Given the description of an element on the screen output the (x, y) to click on. 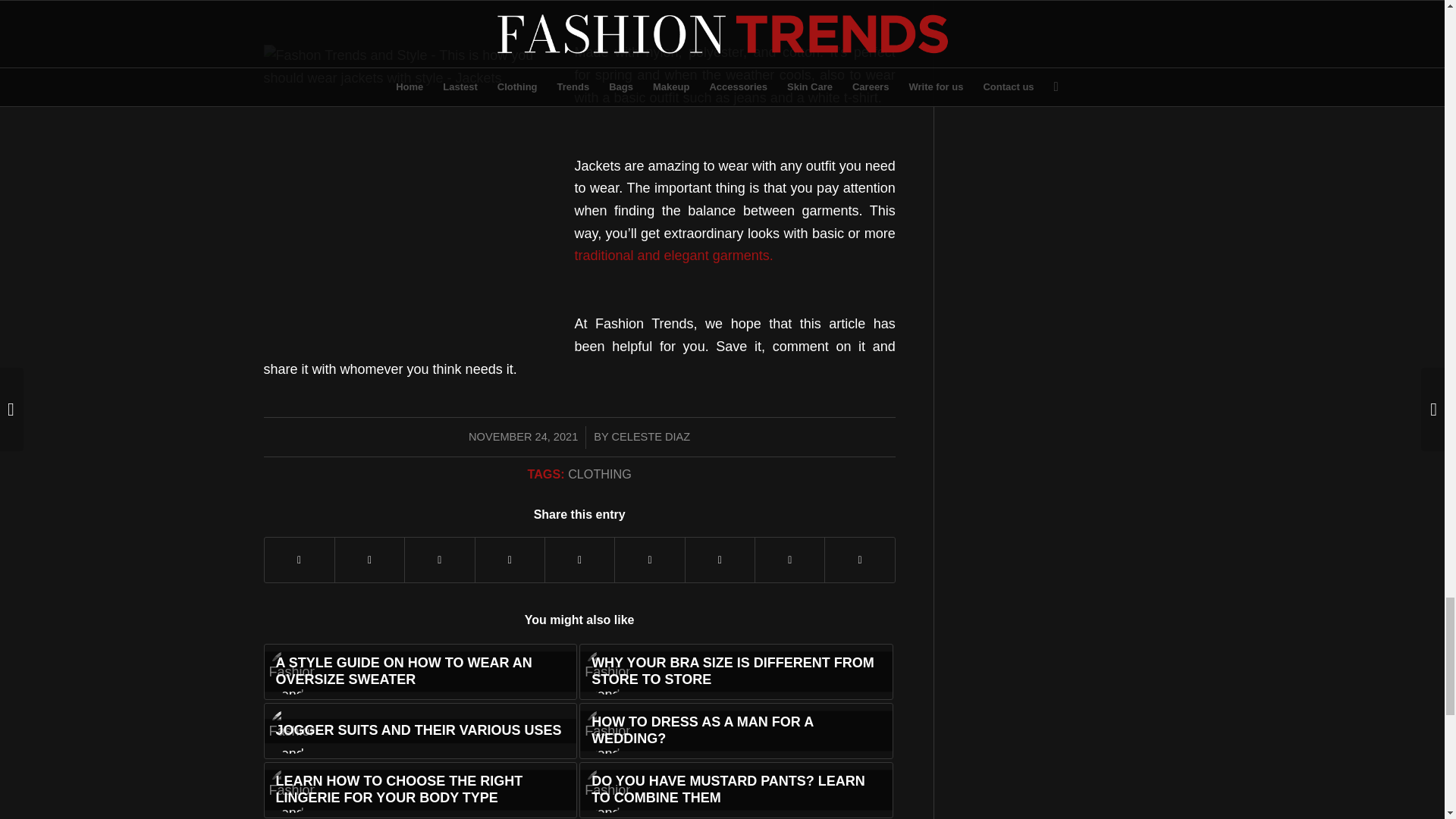
WHY YOUR BRA SIZE IS DIFFERENT FROM STORE TO STORE (736, 671)
traditional and elegant garments. (674, 255)
CLOTHING (599, 473)
CELESTE DIAZ (650, 436)
JOGGER SUITS AND THEIR VARIOUS USES (420, 730)
A STYLE GUIDE ON HOW TO WEAR AN OVERSIZE SWEATER (420, 671)
Posts by Celeste Diaz (650, 436)
